Given the description of an element on the screen output the (x, y) to click on. 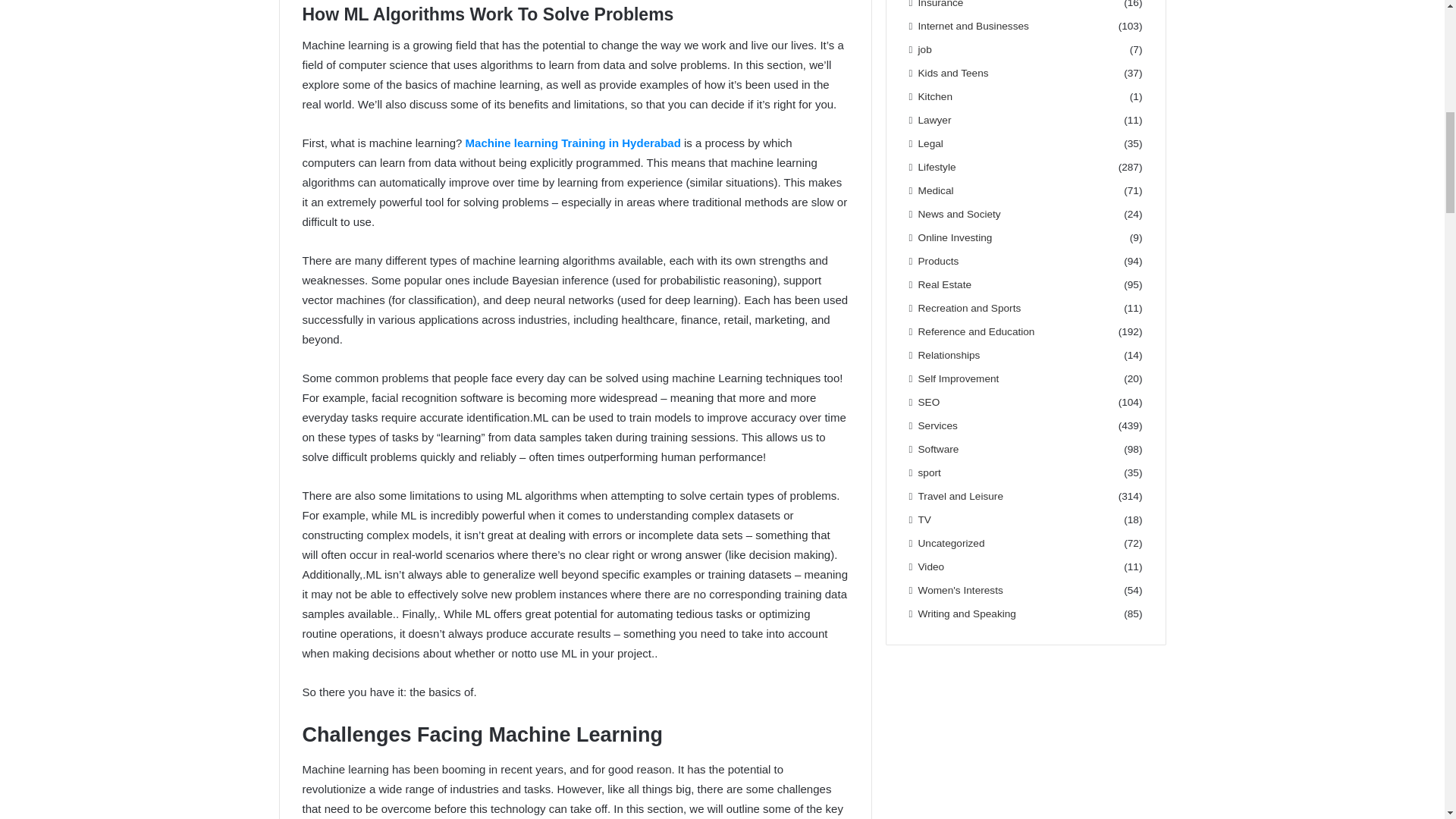
Machine learning Training in Hyderabad (573, 142)
